Given the description of an element on the screen output the (x, y) to click on. 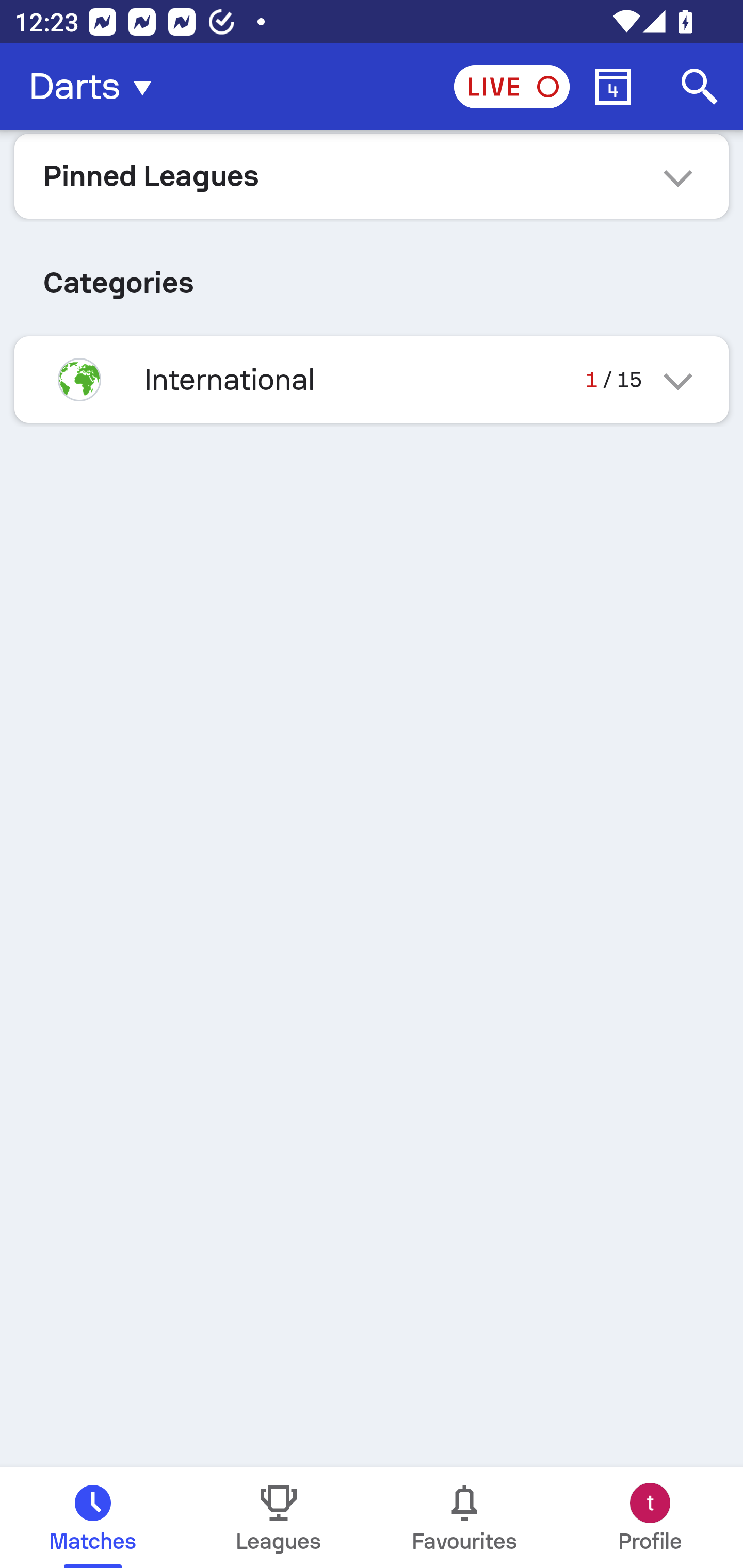
Darts (96, 86)
Calendar (612, 86)
Search (699, 86)
Pinned Leagues (371, 175)
Categories (371, 275)
International 1 / 15 (371, 379)
Leagues (278, 1517)
Favourites (464, 1517)
Profile (650, 1517)
